Given the description of an element on the screen output the (x, y) to click on. 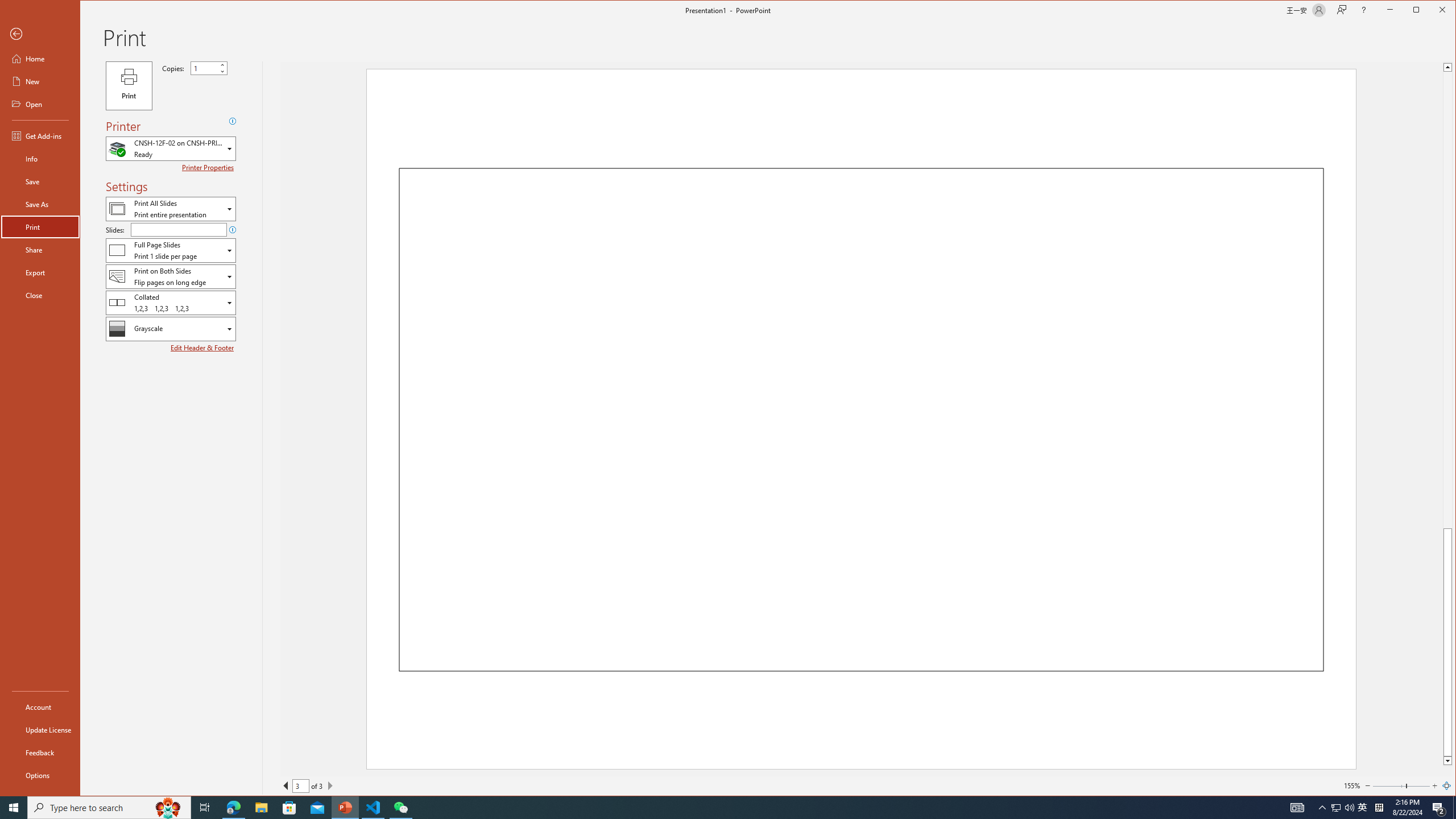
Copies (208, 68)
Print (129, 85)
Current Page (300, 785)
Print What (170, 208)
Info (40, 158)
Page left (1389, 785)
Account (40, 706)
Get Add-ins (40, 135)
Feedback (40, 752)
Slides (178, 229)
